Given the description of an element on the screen output the (x, y) to click on. 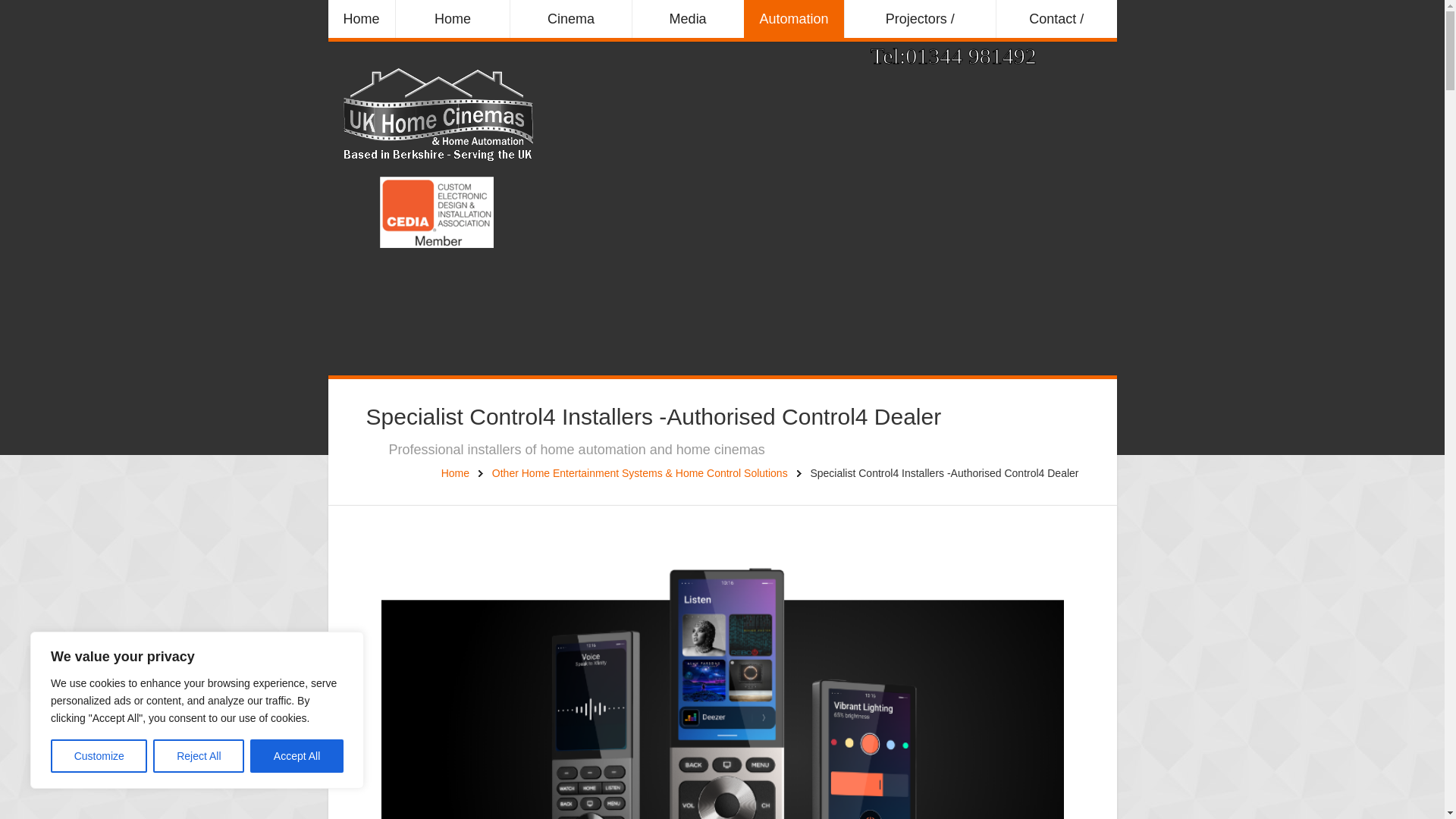
Reject All (198, 756)
Media Rooms (687, 18)
Home (360, 18)
Customize (98, 756)
Accept All (296, 756)
Cinema Gallery (569, 18)
Home Cinema (452, 18)
